Given the description of an element on the screen output the (x, y) to click on. 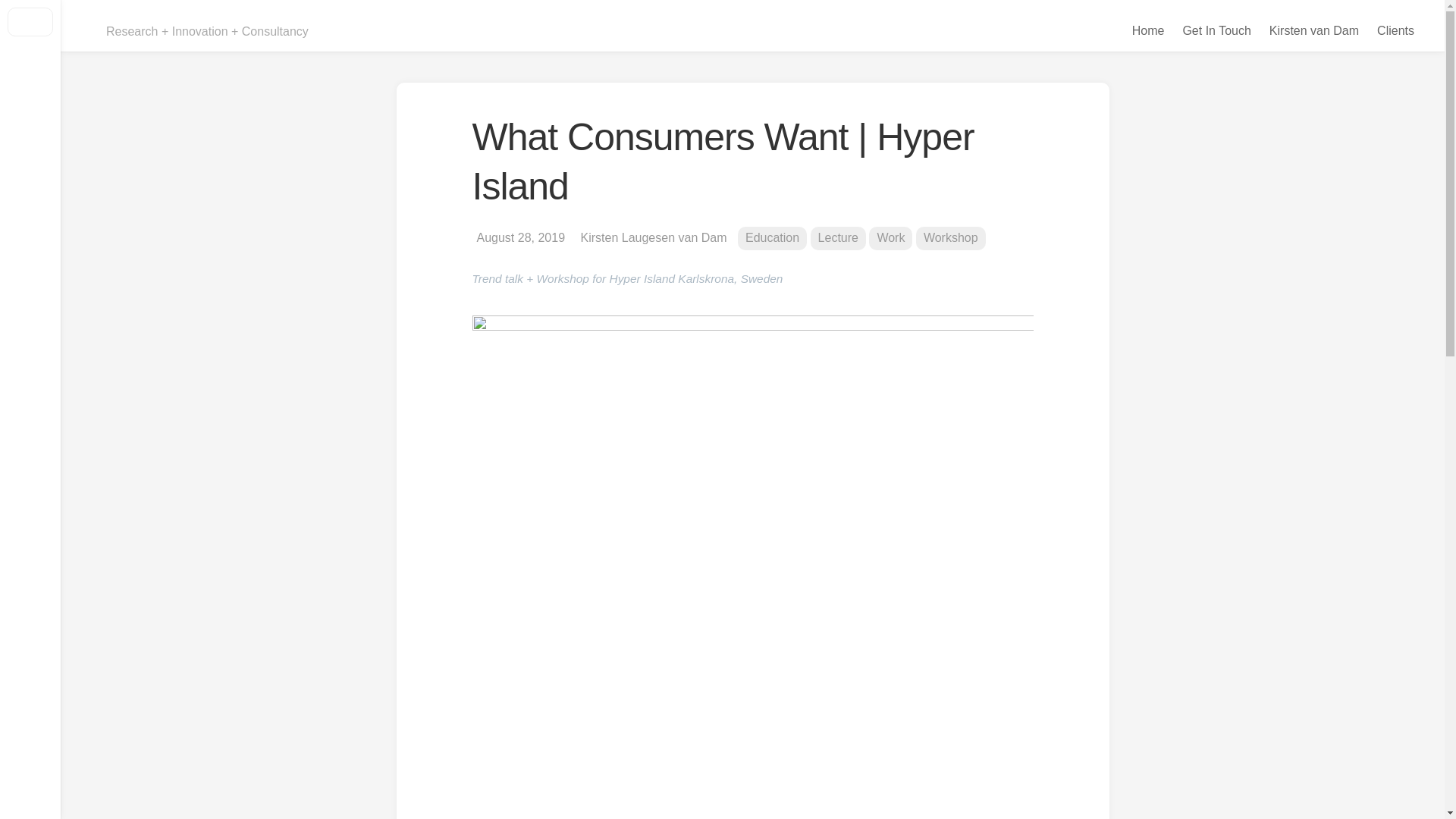
Kirsten van Dam Element type: text (1313, 30)
Clients Element type: text (1395, 30)
Education Element type: text (771, 238)
Work Element type: text (890, 238)
Workshop Element type: text (950, 238)
Kirsten Laugesen van Dam Element type: text (653, 237)
Lecture Element type: text (838, 238)
Get In Touch Element type: text (1216, 30)
Home Element type: text (1148, 30)
